Given the description of an element on the screen output the (x, y) to click on. 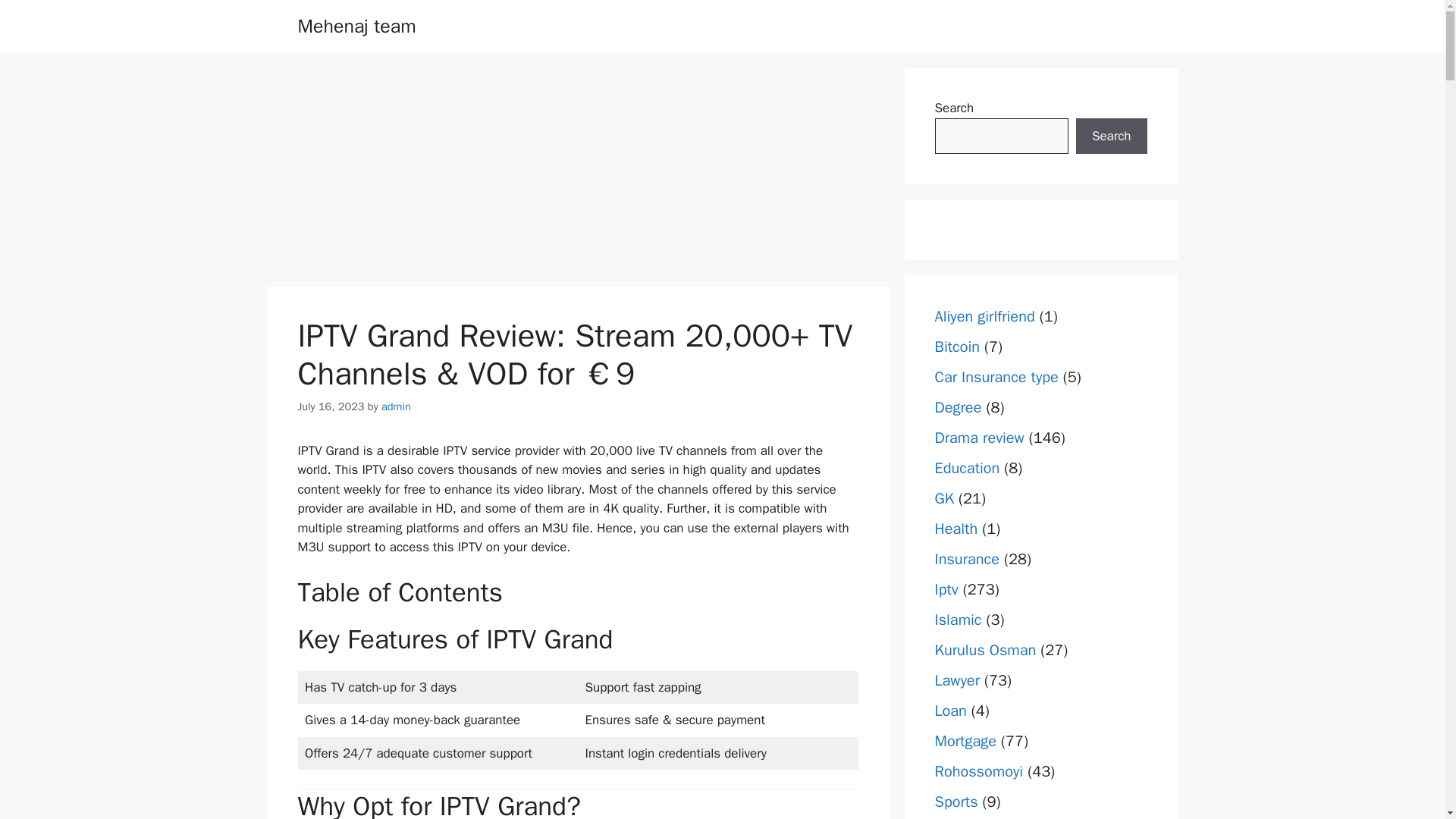
Bitcoin (956, 346)
Degree (957, 407)
Aliyen girlfriend (983, 316)
admin (395, 406)
Sports (955, 801)
Lawyer (956, 680)
Iptv (946, 588)
View all posts by admin (395, 406)
Search (1111, 135)
Car Insurance type (996, 376)
